Given the description of an element on the screen output the (x, y) to click on. 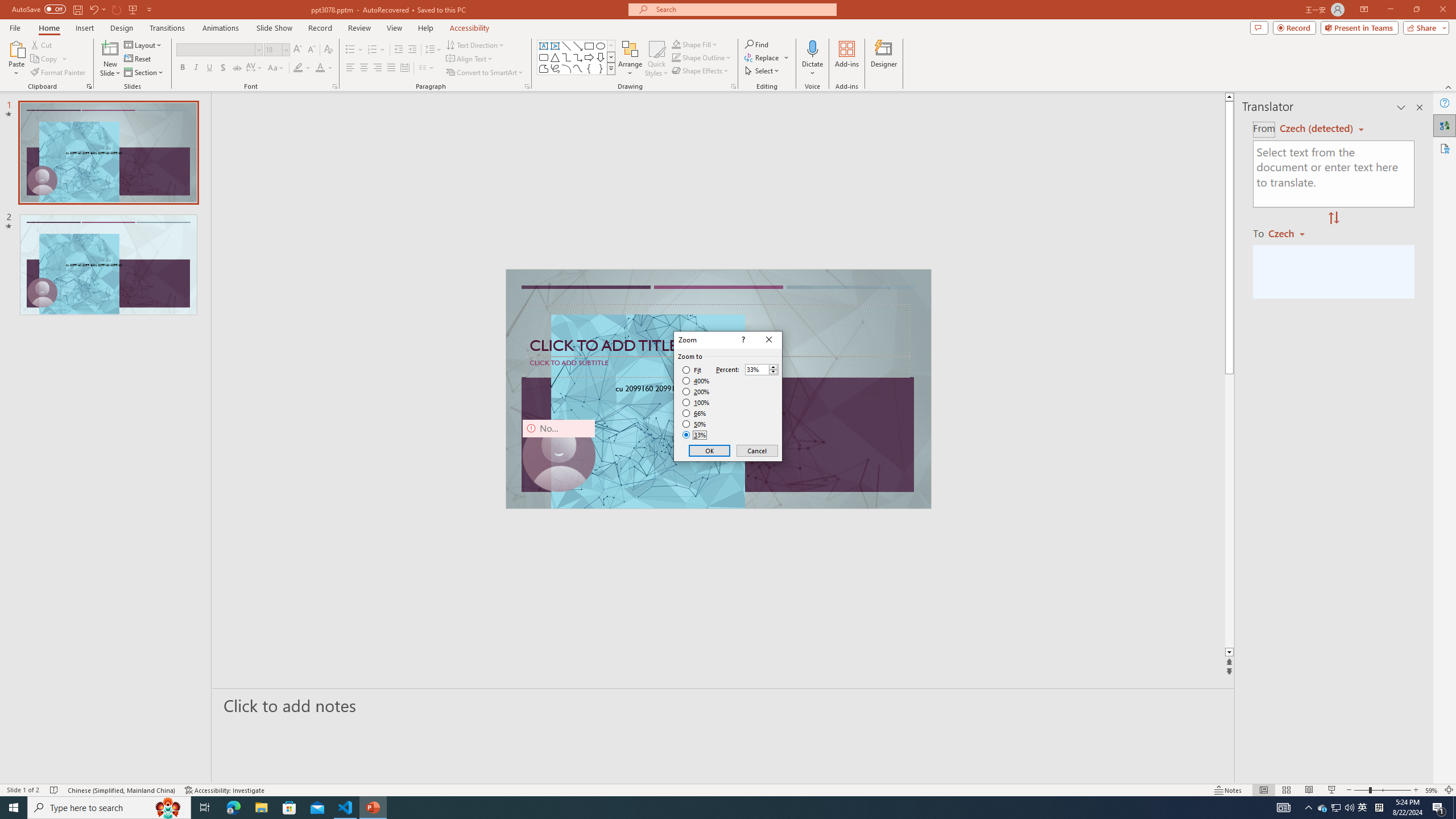
OK (709, 450)
Convert to SmartArt (485, 72)
Context help (742, 339)
Bold (182, 67)
400% (696, 380)
Less (772, 372)
Font Color Red (320, 67)
